Given the description of an element on the screen output the (x, y) to click on. 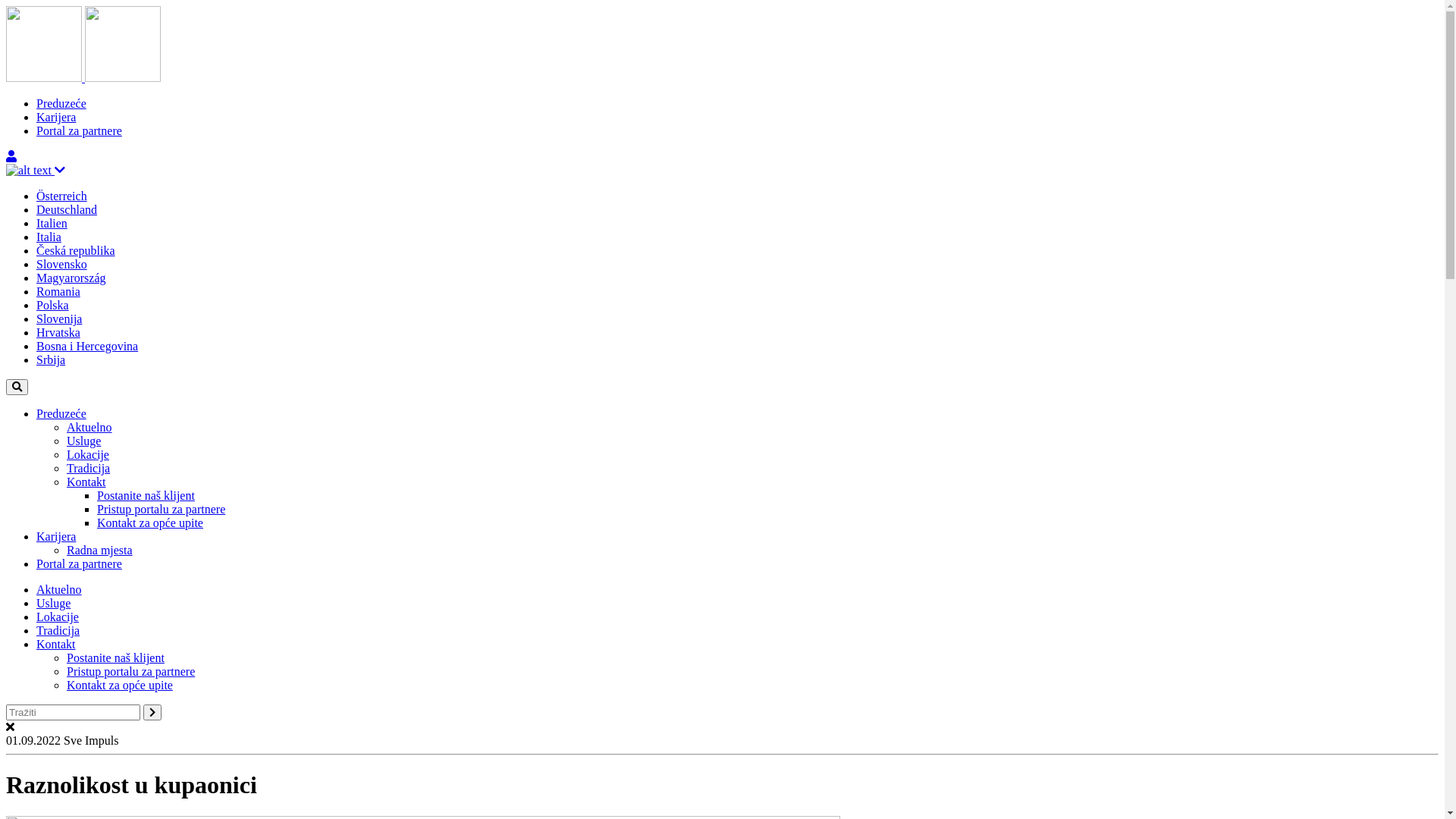
Karijera Element type: text (55, 536)
Pristup portalu za partnere Element type: text (130, 671)
Polska Element type: text (52, 304)
Aktuelno Element type: text (89, 426)
Bosna i Hercegovina Element type: text (87, 345)
Srbija Element type: text (50, 359)
Usluge Element type: text (83, 440)
Radna mjesta Element type: text (99, 549)
Aktuelno Element type: text (58, 589)
Slovenija Element type: text (58, 318)
Italien Element type: text (51, 222)
Hrvatska Element type: text (58, 332)
Italia Element type: text (48, 236)
Slovensko Element type: text (61, 263)
Kontakt Element type: text (86, 481)
Romania Element type: text (58, 291)
Tradicija Element type: text (87, 467)
Usluge Element type: text (53, 602)
Deutschland Element type: text (66, 209)
Lokacije Element type: text (87, 454)
Portal za partnere Element type: text (79, 130)
Lokacije Element type: text (57, 616)
Tradicija Element type: text (57, 630)
Pristup portalu za partnere Element type: text (161, 508)
Portal za partnere Element type: text (79, 563)
Karijera Element type: text (55, 116)
Kontakt Element type: text (55, 643)
